Given the description of an element on the screen output the (x, y) to click on. 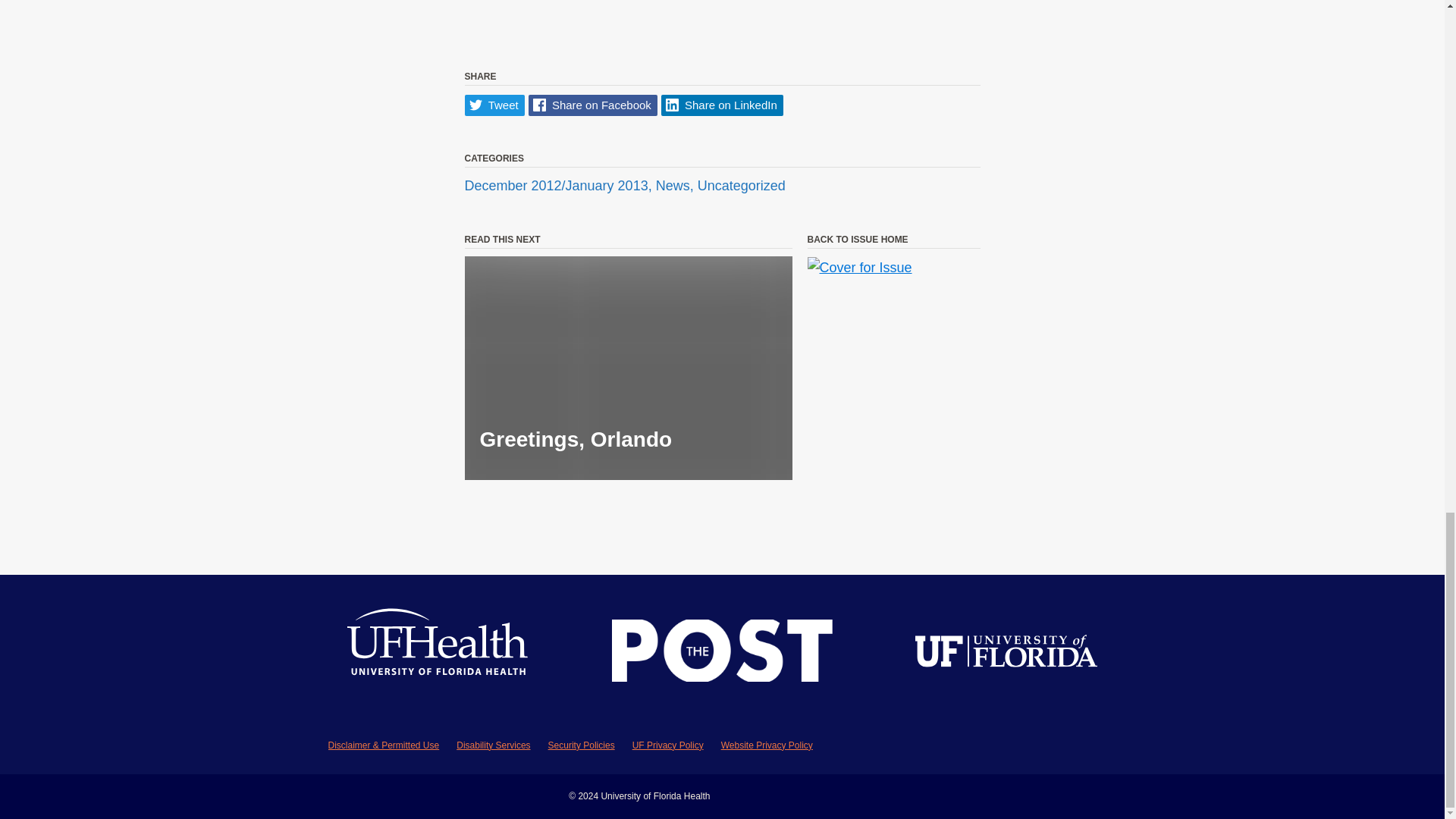
University of Florida (1005, 653)
UF Health (437, 653)
University of Florida Logo (1005, 653)
UF Health Logo (437, 653)
Security Policies (581, 745)
Greetings, Orlando (628, 367)
Uncategorized (741, 185)
Tweet (494, 106)
Website Privacy Policy (766, 745)
Publication Logo (721, 653)
